Given the description of an element on the screen output the (x, y) to click on. 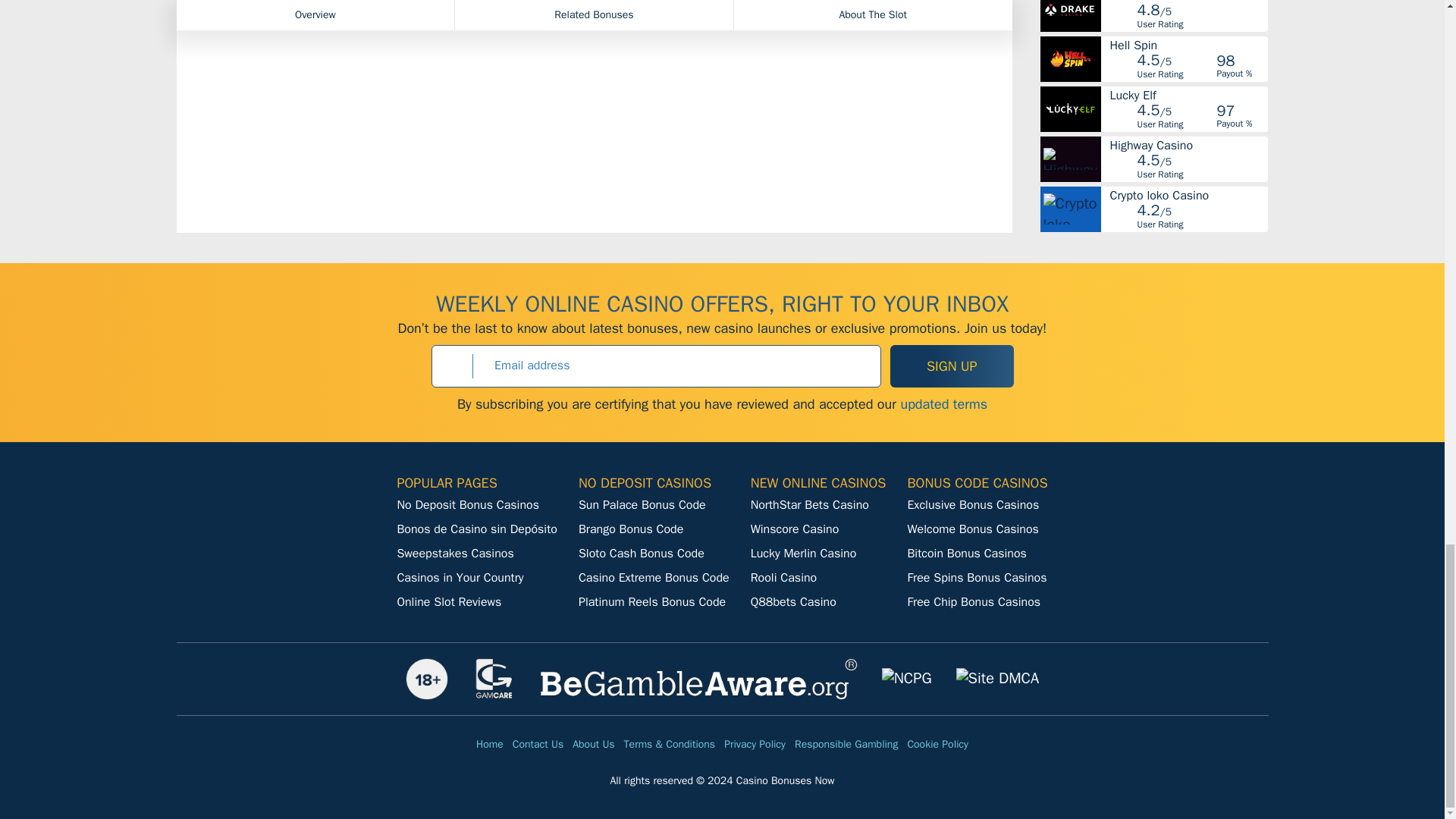
Lucky Elf (1187, 94)
Crypto loko Casino (1187, 194)
Highway Casino (1187, 144)
Hell Spin (1187, 44)
